Given the description of an element on the screen output the (x, y) to click on. 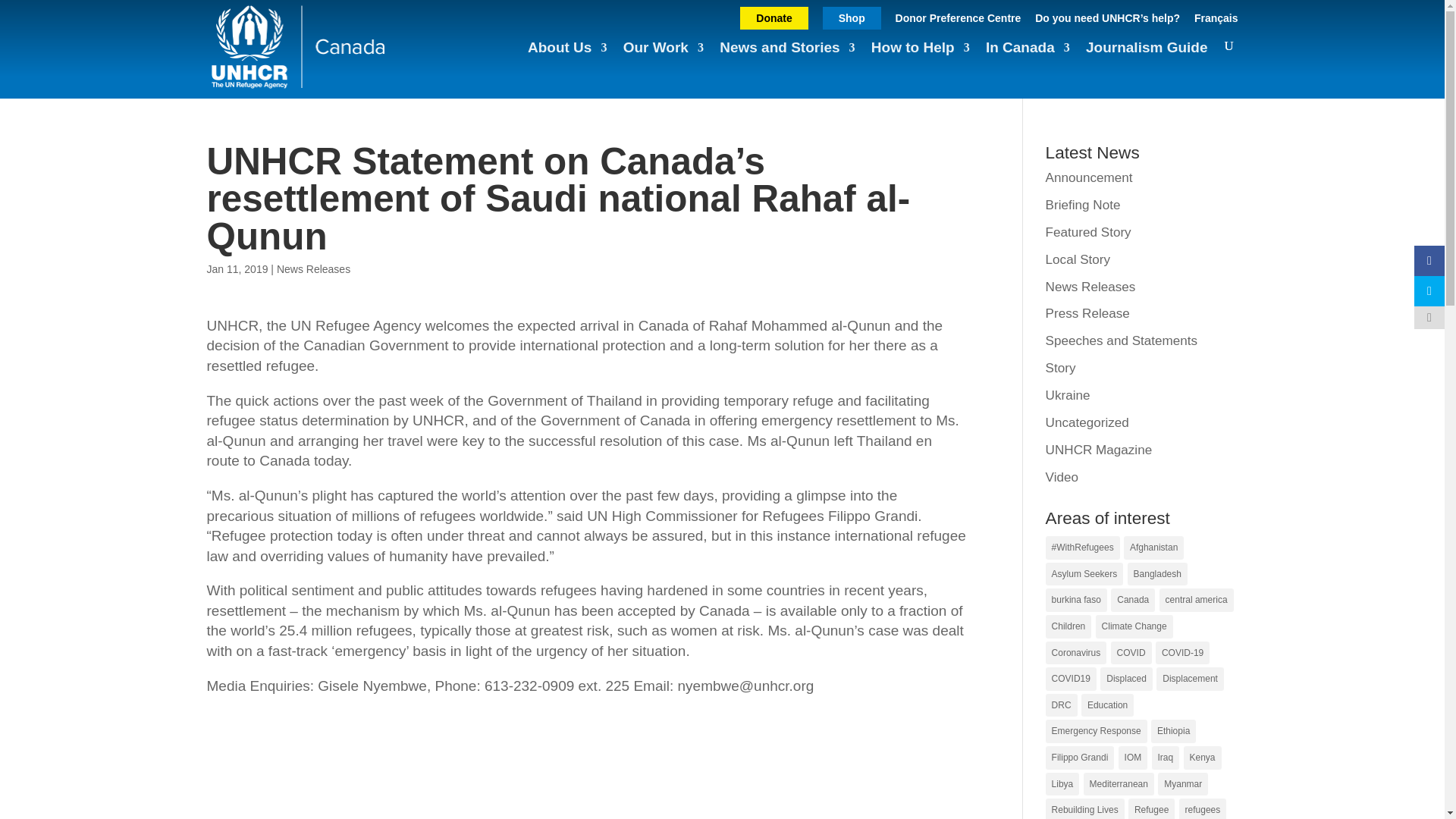
News and Stories (786, 54)
Donor Preference Centre (958, 22)
Our Work (663, 54)
Shop (851, 17)
Donate (773, 17)
About Us (567, 54)
